Given the description of an element on the screen output the (x, y) to click on. 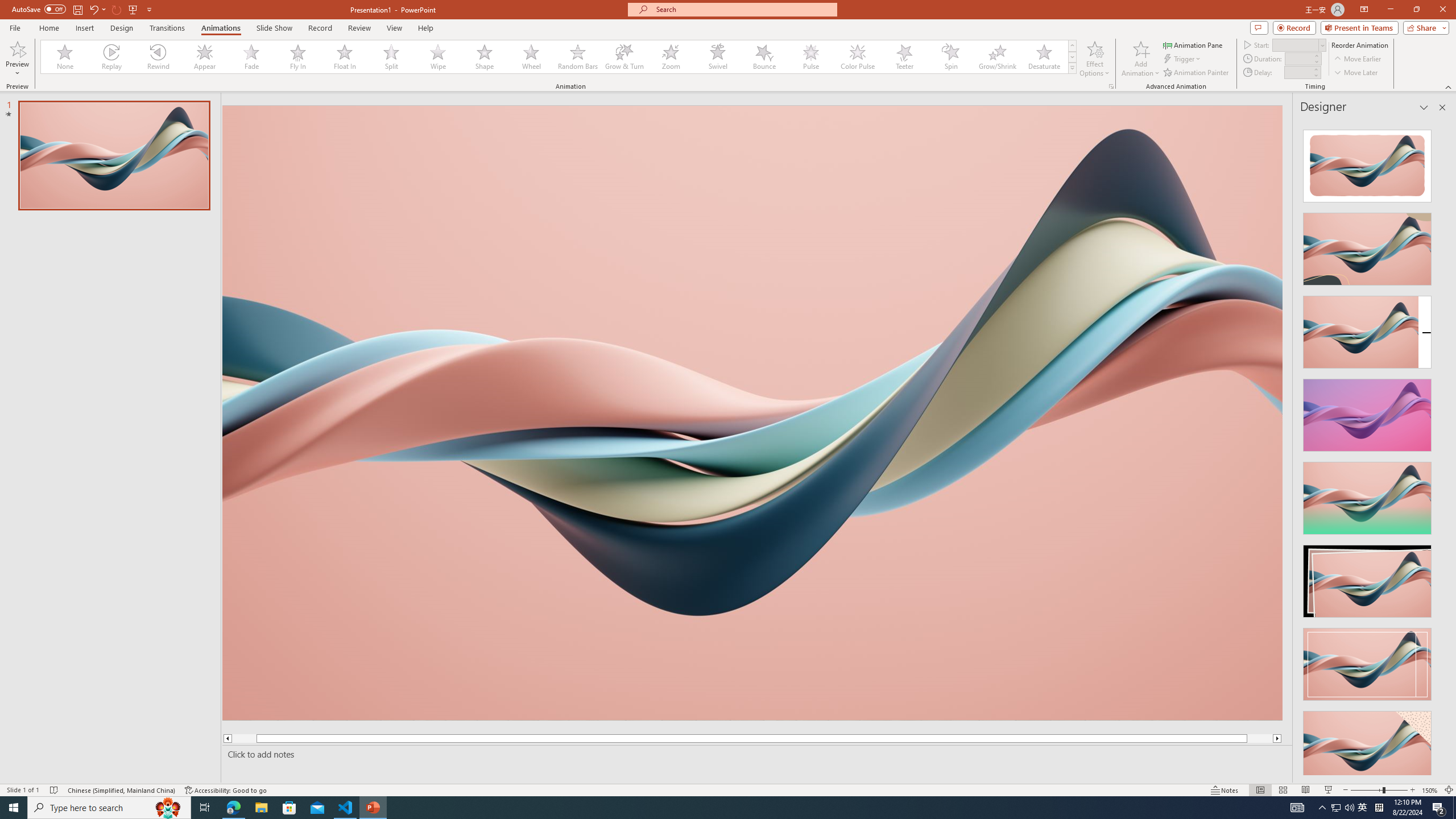
Zoom 150% (1430, 790)
Color Pulse (857, 56)
Move Later (1355, 72)
Class: NetUIScrollBar (1441, 447)
Float In (344, 56)
